Given the description of an element on the screen output the (x, y) to click on. 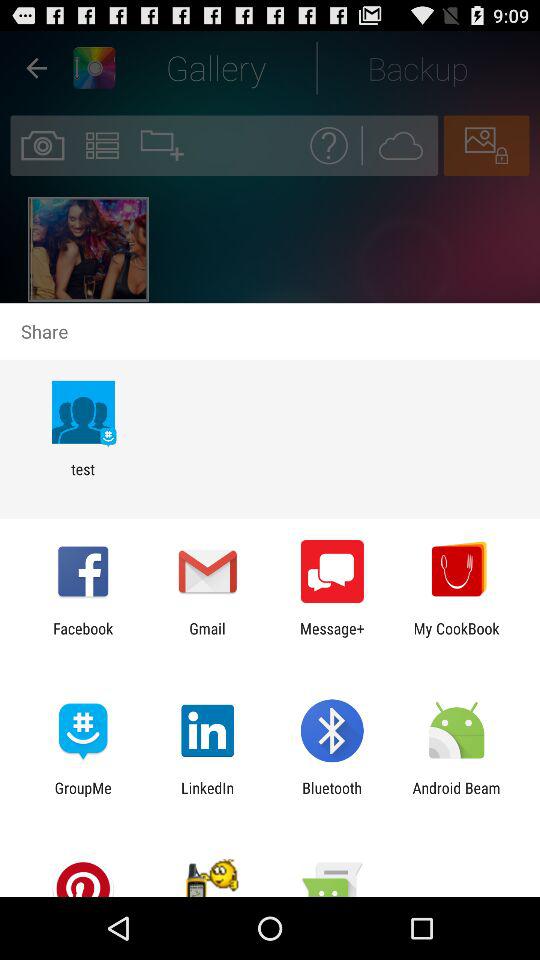
click item next to android beam item (331, 796)
